Given the description of an element on the screen output the (x, y) to click on. 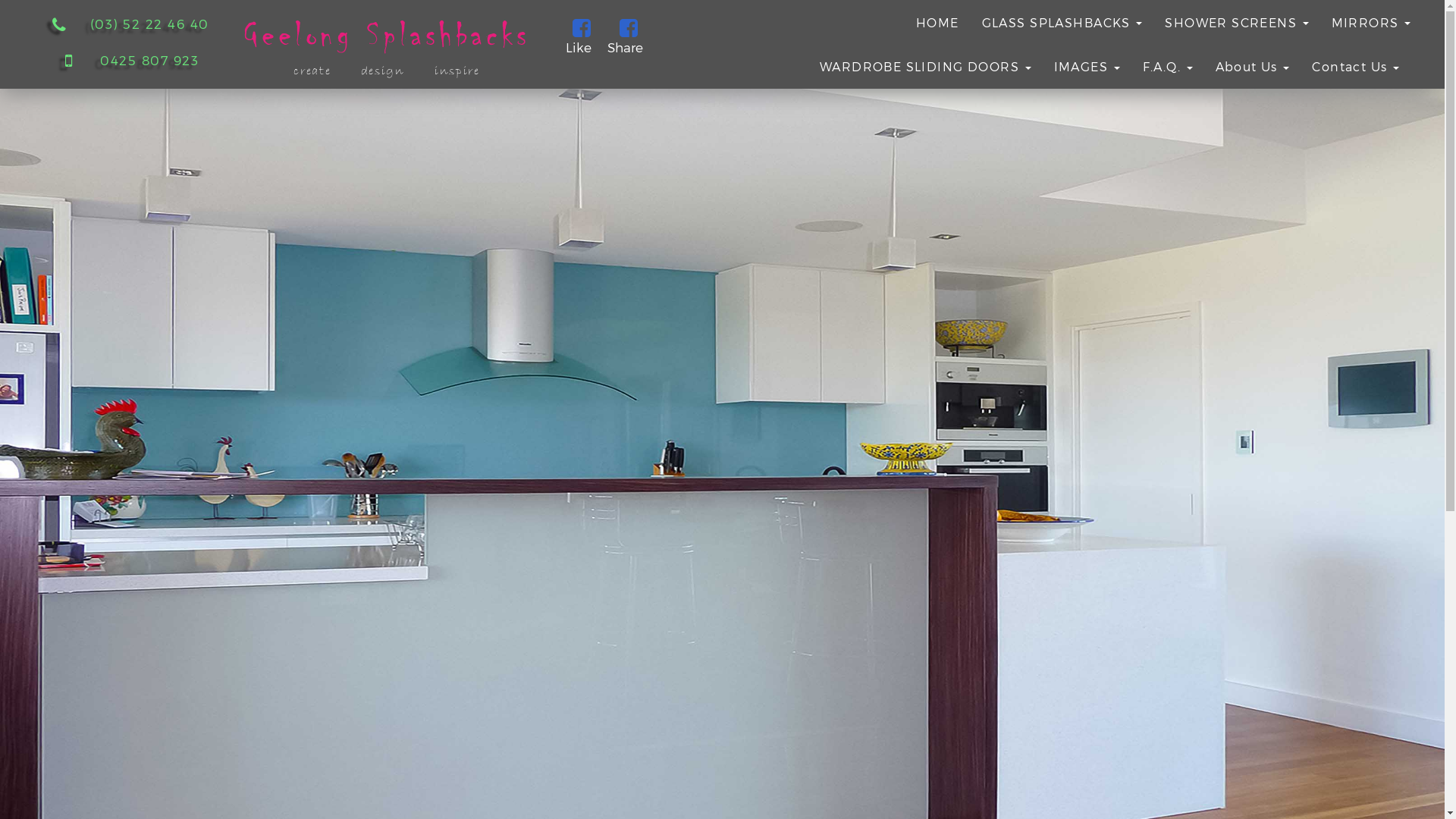
MIRRORS Element type: text (1370, 22)
F.A.Q. Element type: text (1167, 66)
Share Element type: text (628, 31)
Like Element type: text (581, 31)
Geelong Splashbacks
create design inspire Element type: text (390, 40)
HOME Element type: text (937, 22)
SHOWER SCREENS Element type: text (1236, 22)
WARDROBE SLIDING DOORS Element type: text (925, 66)
About Us Element type: text (1252, 66)
GLASS SPLASHBACKS Element type: text (1062, 22)
Contact Us Element type: text (1355, 66)
IMAGES Element type: text (1086, 66)
